Given the description of an element on the screen output the (x, y) to click on. 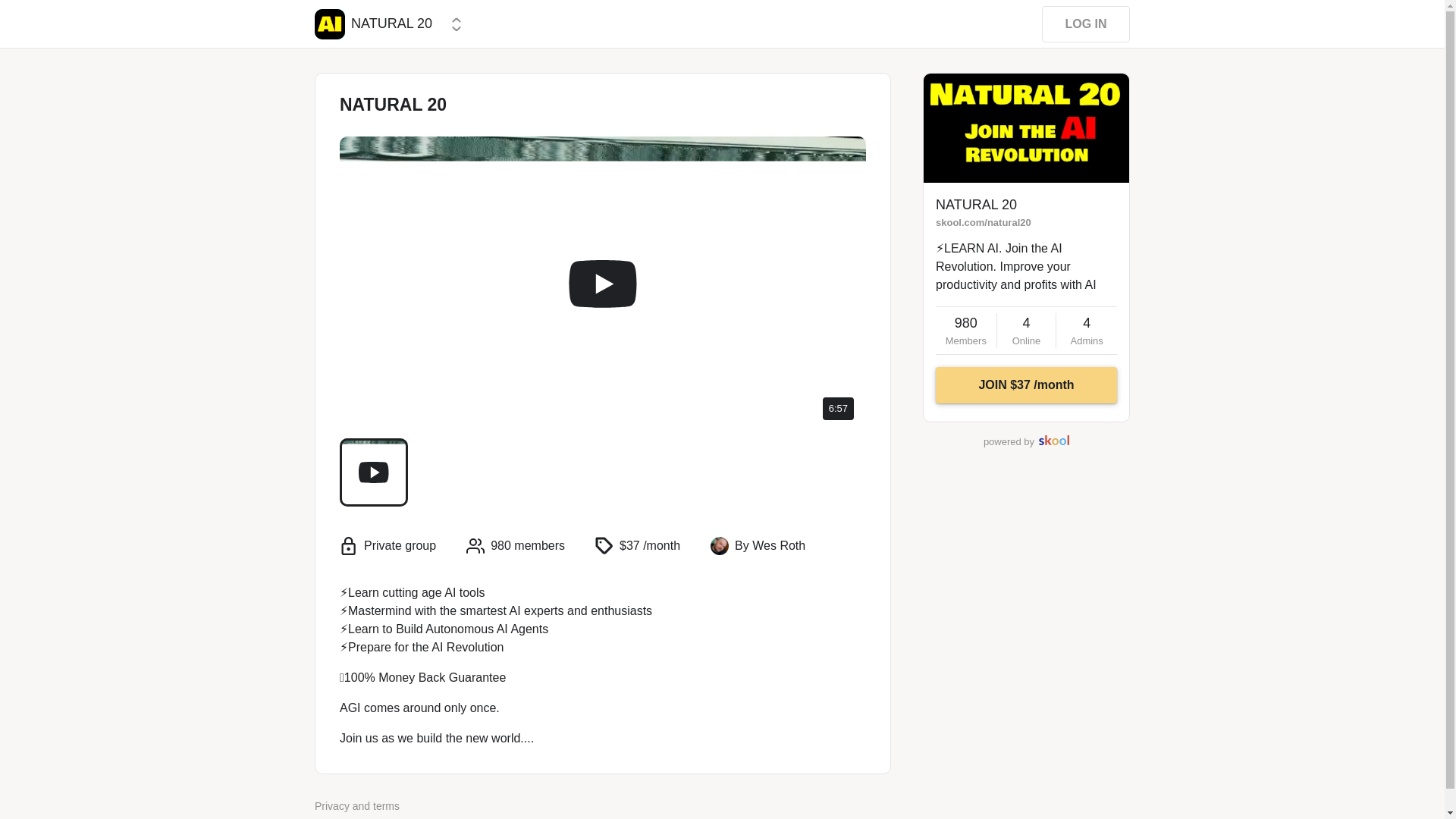
powered by (1026, 441)
By Wes Roth (770, 546)
NATURAL 20 (1086, 330)
NATURAL 20 (373, 23)
LOG IN (965, 330)
Privacy and terms (1026, 330)
Wes Roth (329, 24)
